Given the description of an element on the screen output the (x, y) to click on. 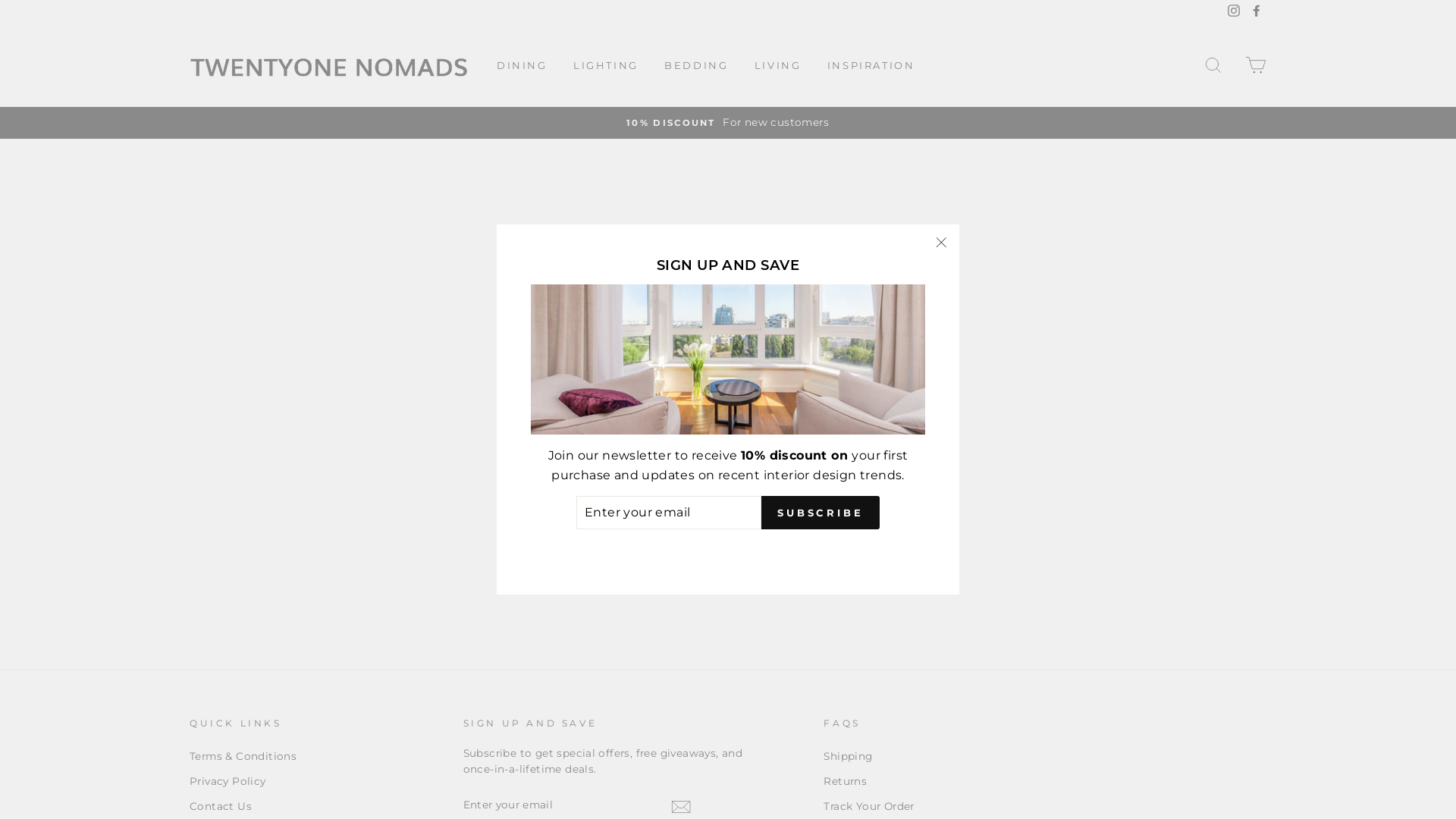
Track Your Order Element type: text (868, 806)
Facebook Element type: text (1256, 12)
Skip to content Element type: text (0, 0)
Shipping Element type: text (847, 756)
Instagram Element type: text (1233, 12)
CART Element type: text (1255, 65)
Returns Element type: text (844, 781)
LIGHTING Element type: text (605, 64)
SUBSCRIBE Element type: text (820, 512)
Privacy Policy Element type: text (227, 781)
INSPIRATION Element type: text (870, 64)
Terms & Conditions Element type: text (242, 756)
SEARCH Element type: text (1213, 65)
Contact Us Element type: text (220, 806)
"Close (esc)" Element type: text (940, 242)
BEDDING Element type: text (695, 64)
DINING Element type: text (521, 64)
Continue shopping Element type: text (727, 320)
LIVING Element type: text (777, 64)
